Given the description of an element on the screen output the (x, y) to click on. 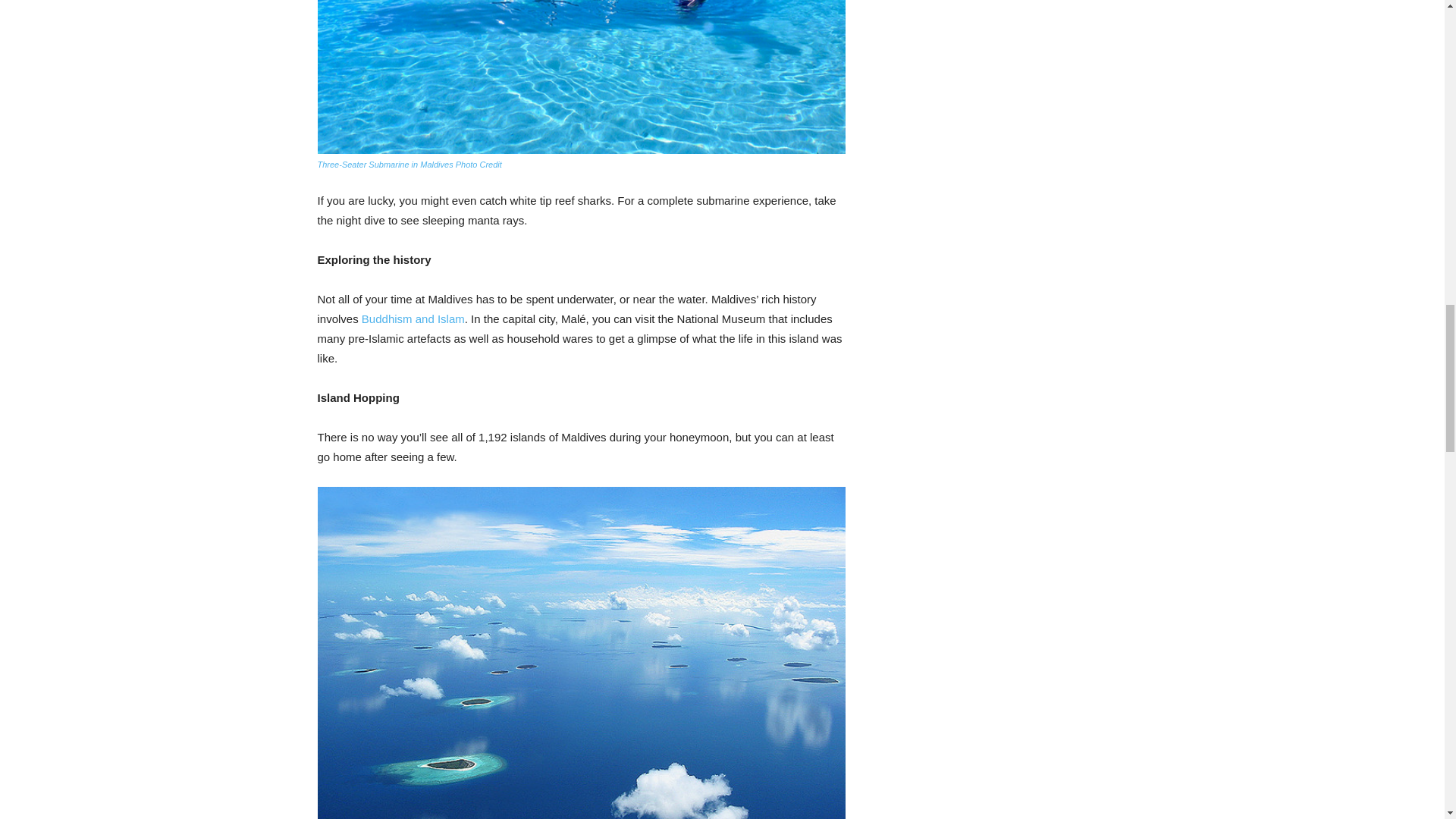
Three-Seater Submarine in Maldives Photo Credit (408, 163)
Buddhism and Islam (412, 318)
